Given the description of an element on the screen output the (x, y) to click on. 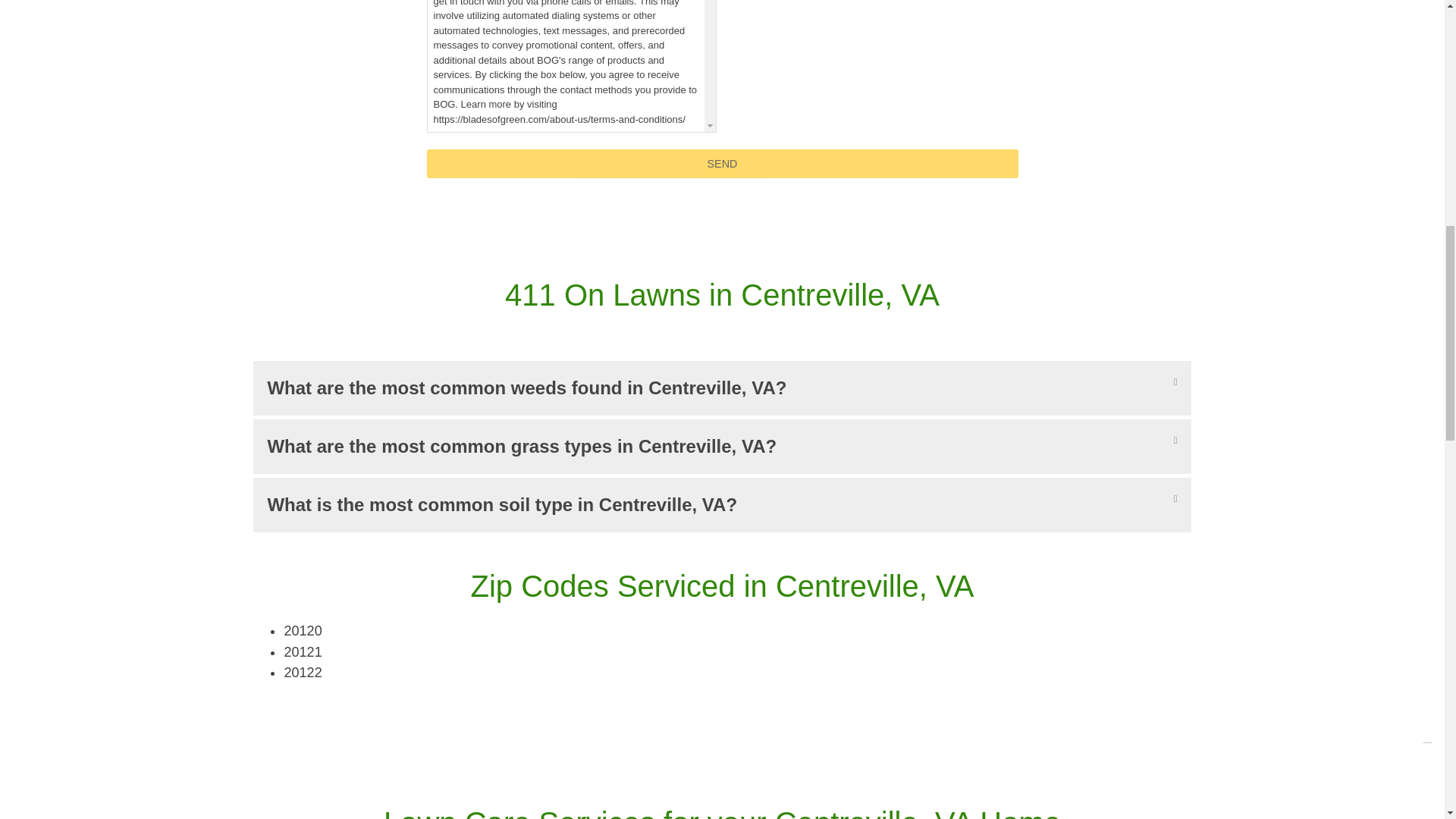
SEND (721, 164)
SEND (721, 164)
